Given the description of an element on the screen output the (x, y) to click on. 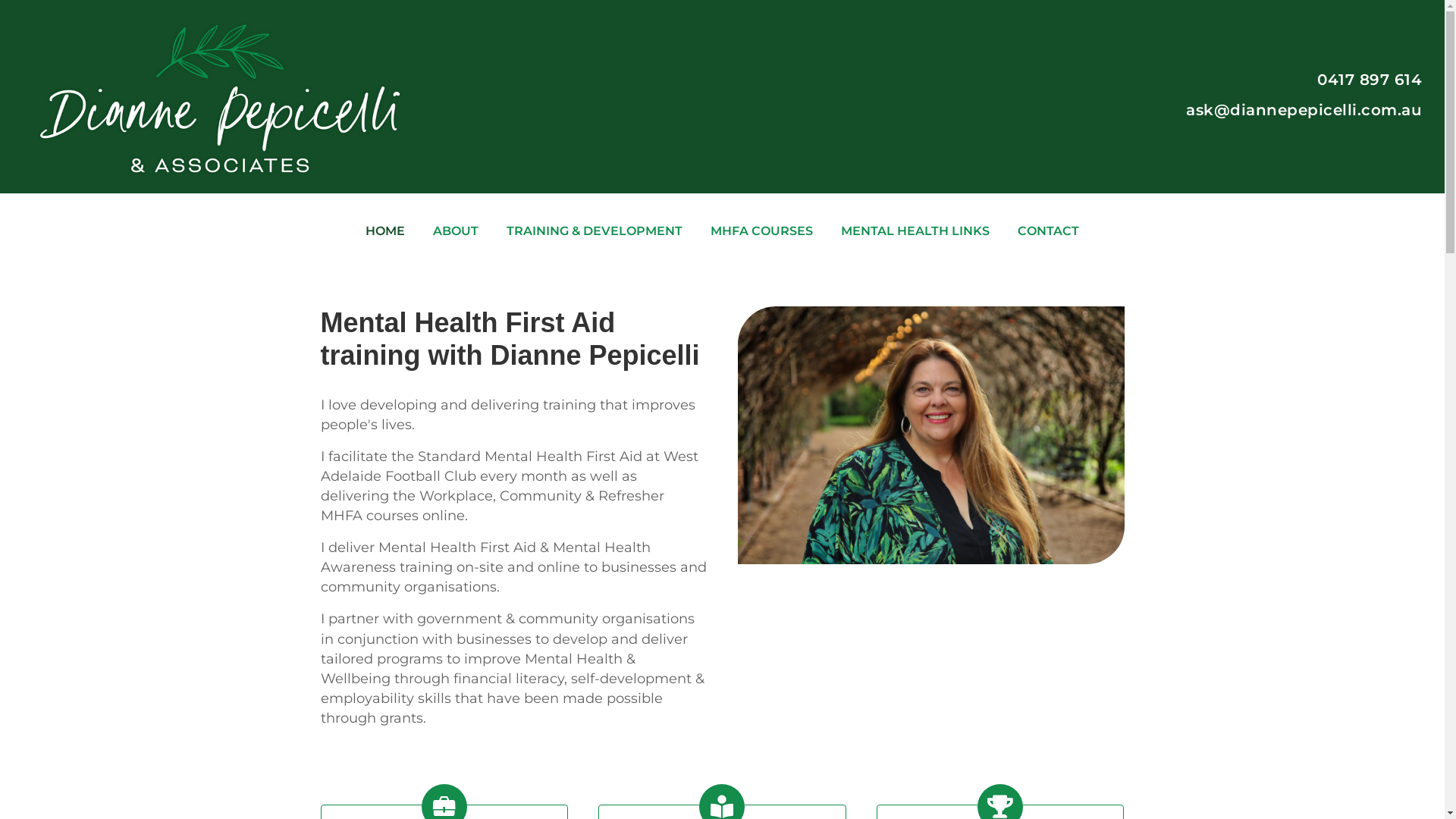
0417 897 614 Element type: text (1369, 78)
MENTAL HEALTH LINKS Element type: text (915, 230)
ask@diannepepicelli.com.au Element type: text (1303, 109)
Dianne Pepicelli and Associates Element type: hover (219, 98)
MHFA COURSES Element type: text (761, 230)
HOME Element type: text (384, 230)
ABOUT Element type: text (455, 230)
CONTACT Element type: text (1048, 230)
Dianne Pepicelli mental health training Element type: hover (930, 435)
TRAINING & DEVELOPMENT Element type: text (594, 230)
